Given the description of an element on the screen output the (x, y) to click on. 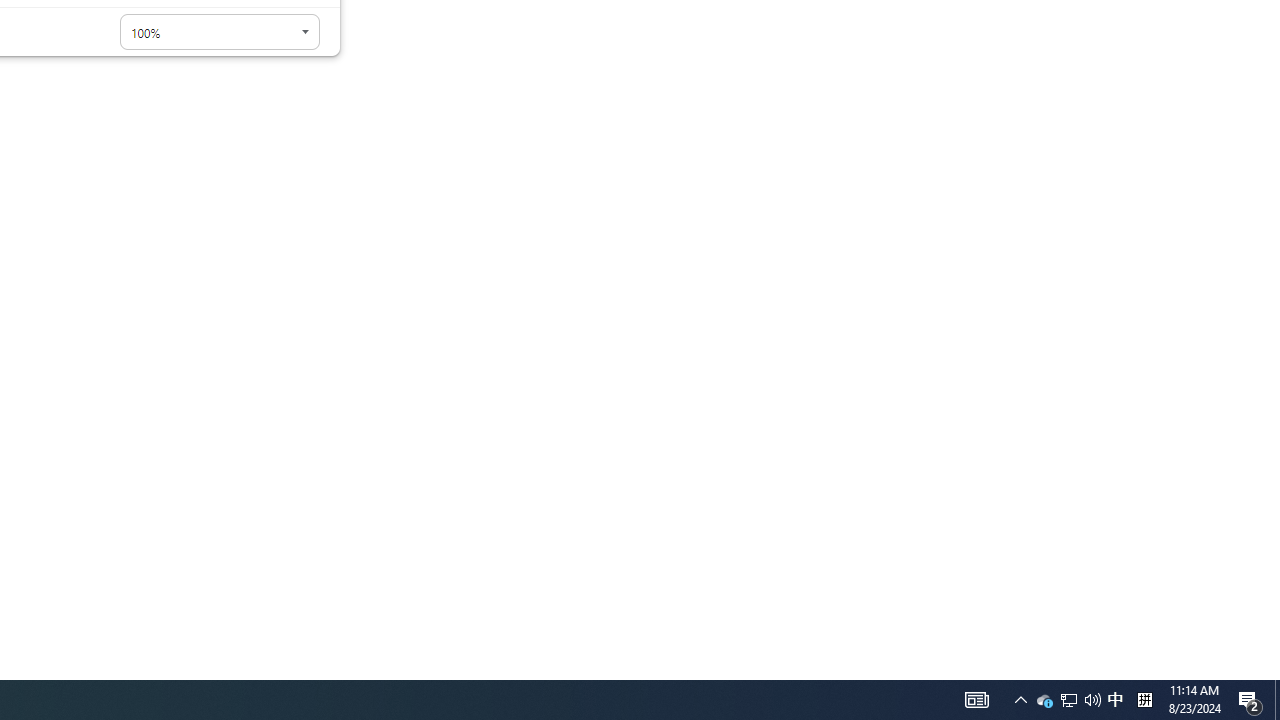
Page zoom (219, 32)
